Given the description of an element on the screen output the (x, y) to click on. 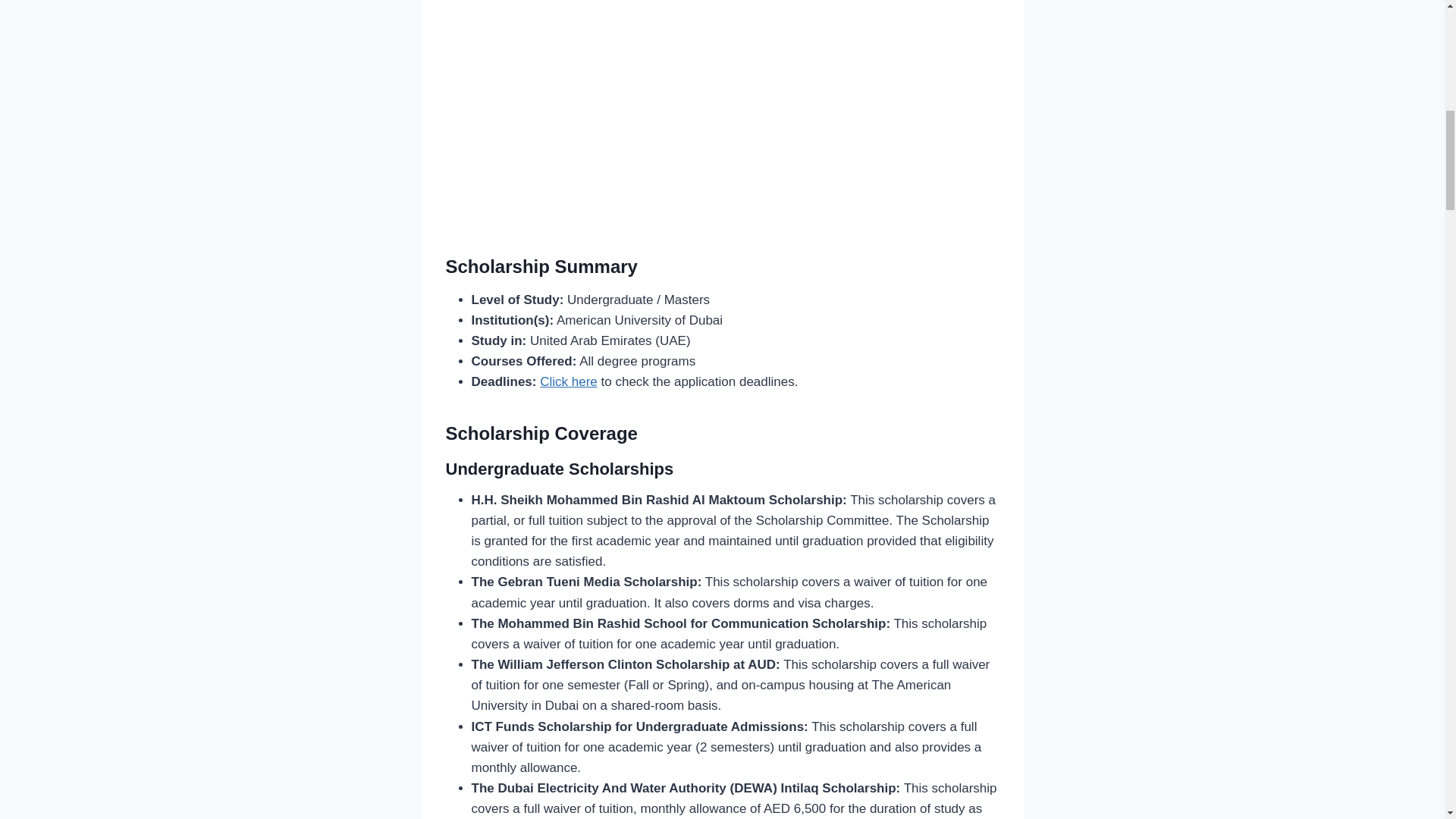
Click here (568, 381)
3rd party ad content (721, 109)
